Given the description of an element on the screen output the (x, y) to click on. 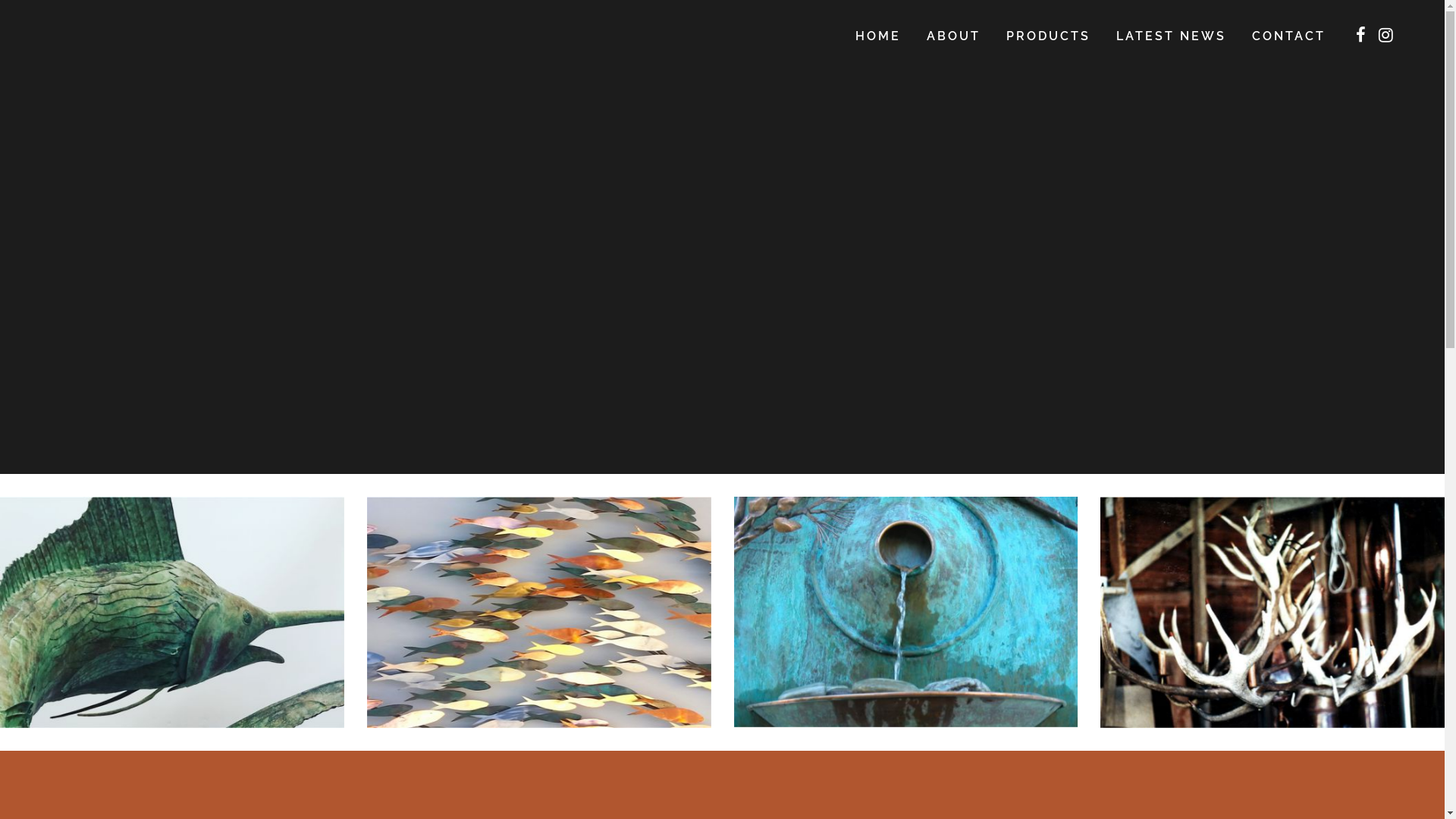
HOME Element type: text (877, 36)
CONTACT Element type: text (1288, 36)
Graphic Design Noosa Element type: text (833, 799)
LATEST NEWS Element type: text (1171, 36)
PRODUCTS Element type: text (1048, 36)
ABOUT Element type: text (953, 36)
